Given the description of an element on the screen output the (x, y) to click on. 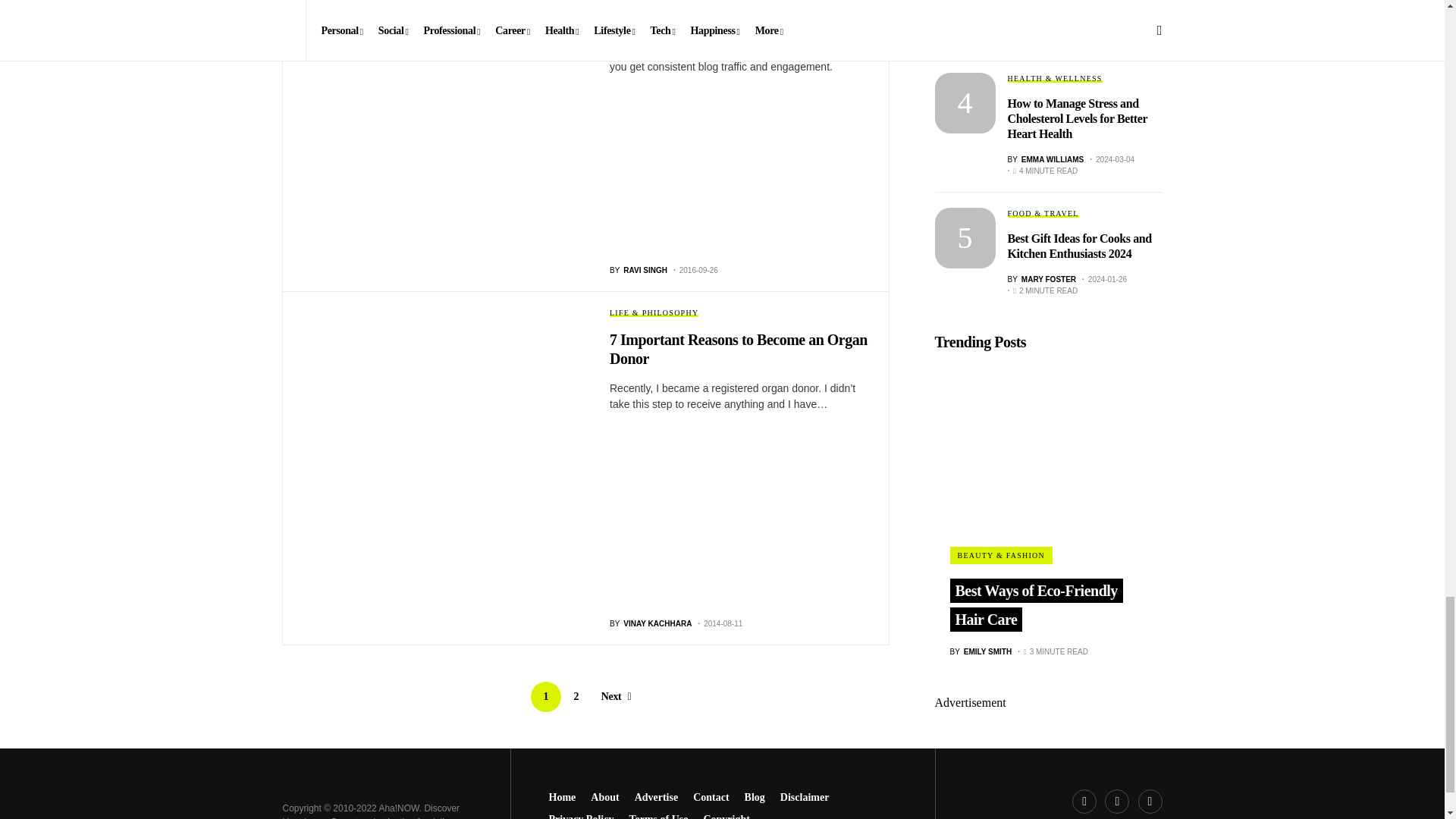
View all posts by Vinay Kachhara (650, 623)
View all posts by Ravi Singh (638, 270)
